Given the description of an element on the screen output the (x, y) to click on. 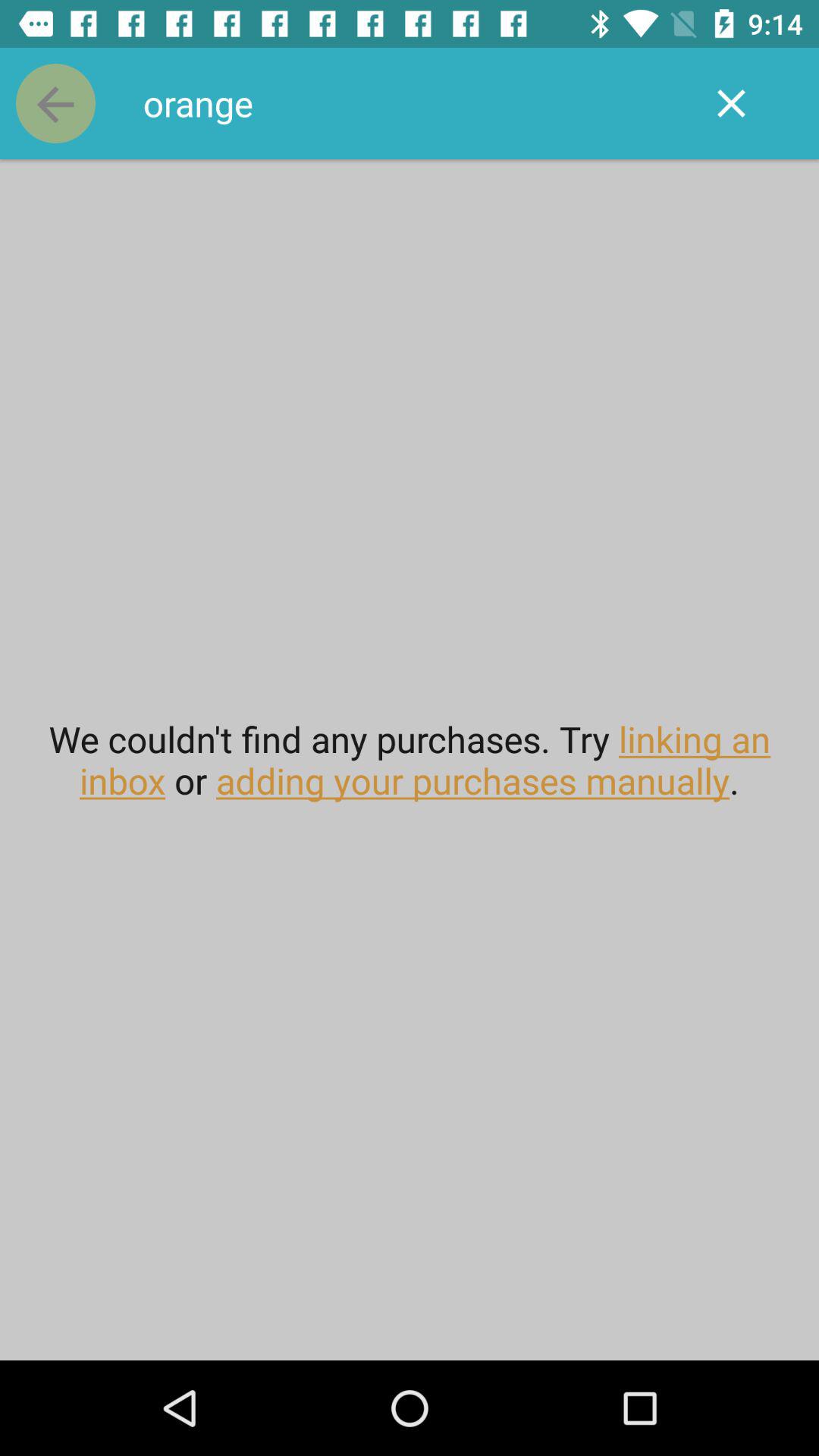
turn on icon next to the orange (731, 103)
